Given the description of an element on the screen output the (x, y) to click on. 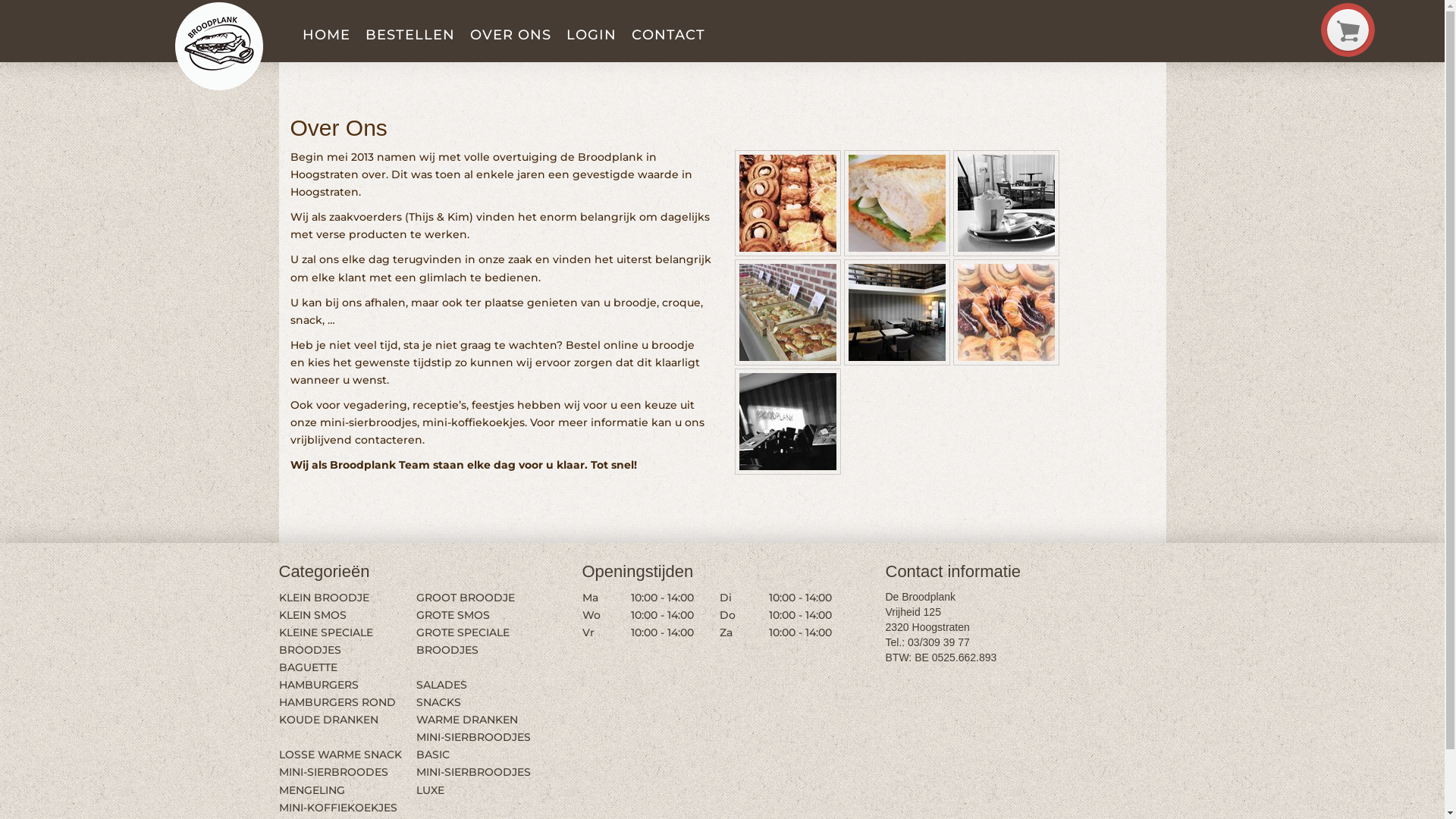
HAMBURGERS ROND Element type: text (337, 702)
KLEIN BROODJE Element type: text (324, 596)
KLEINE SPECIALE BROODJES Element type: text (326, 640)
MINI-SIERBROODES MENGELING Element type: text (333, 780)
HOME Element type: text (325, 35)
GROTE SMOS Element type: text (452, 614)
SALADES Element type: text (441, 684)
GROTE SPECIALE BROODJES Element type: text (462, 640)
MINI-SIERBROODJES LUXE  Element type: text (473, 780)
KLEIN SMOS Element type: text (312, 614)
contacteren Element type: text (388, 439)
GROOT BROODJE Element type: text (465, 596)
KOUDE DRANKEN Element type: text (328, 719)
MINI-SIERBROODJES BASIC Element type: text (473, 745)
OVER ONS Element type: text (510, 35)
BESTELLEN Element type: text (409, 35)
03/309 39 77 Element type: text (938, 641)
WARME DRANKEN Element type: text (466, 719)
MINI-KOFFIEKOEKJES Element type: text (338, 807)
LOGIN Element type: text (590, 35)
CONTACT Element type: text (667, 35)
LOSSE WARME SNACK Element type: text (340, 754)
BAGUETTE HAMBURGERS Element type: text (318, 675)
SNACKS Element type: text (438, 702)
